Given the description of an element on the screen output the (x, y) to click on. 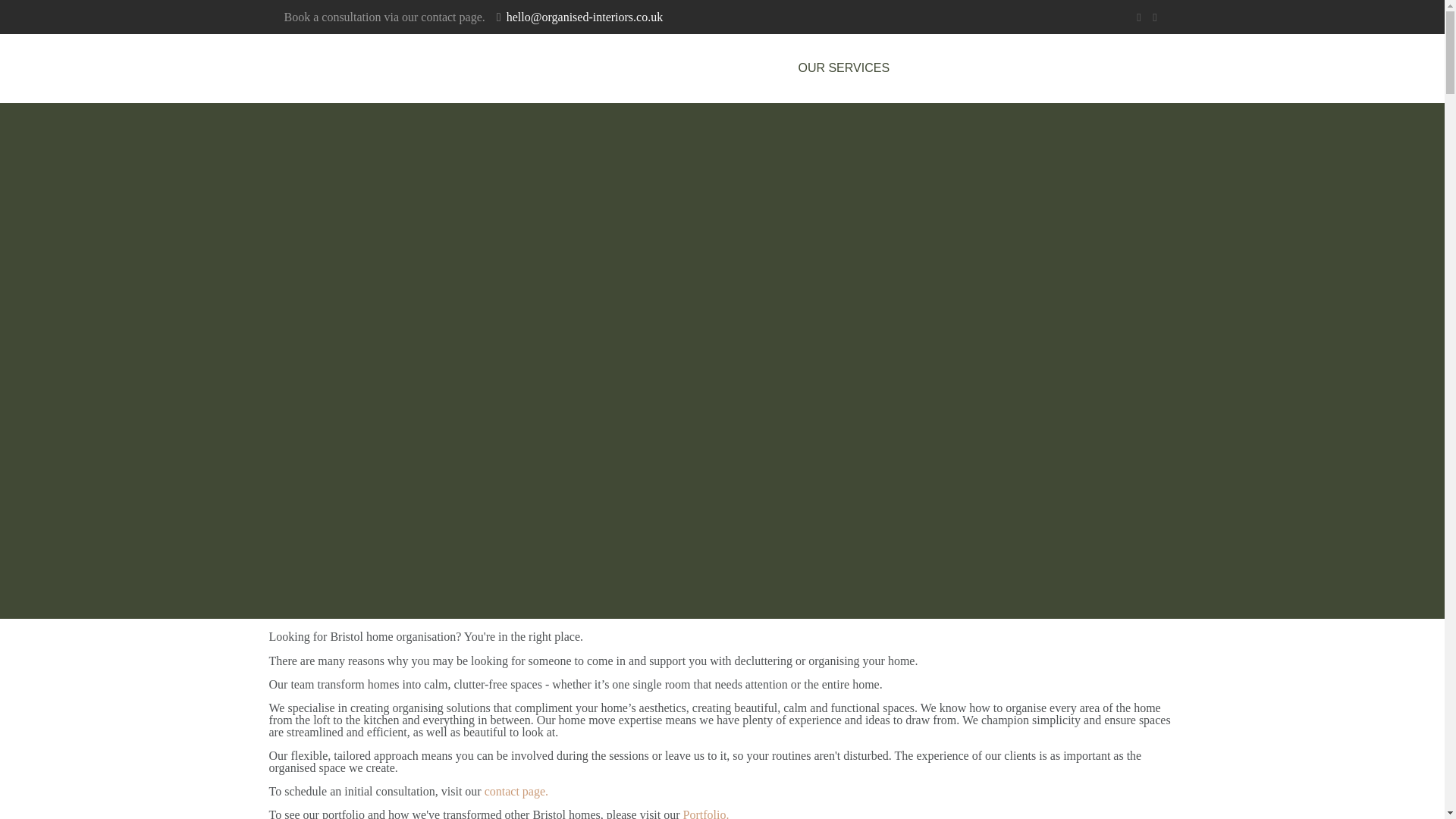
OUR SERVICES (843, 67)
Instagram (1155, 17)
CONTACT (1129, 67)
contact page.   (519, 790)
PORTFOLIO (1032, 67)
LinkedIn (1138, 17)
ABOUT (943, 67)
Portfolio. (705, 813)
